Given the description of an element on the screen output the (x, y) to click on. 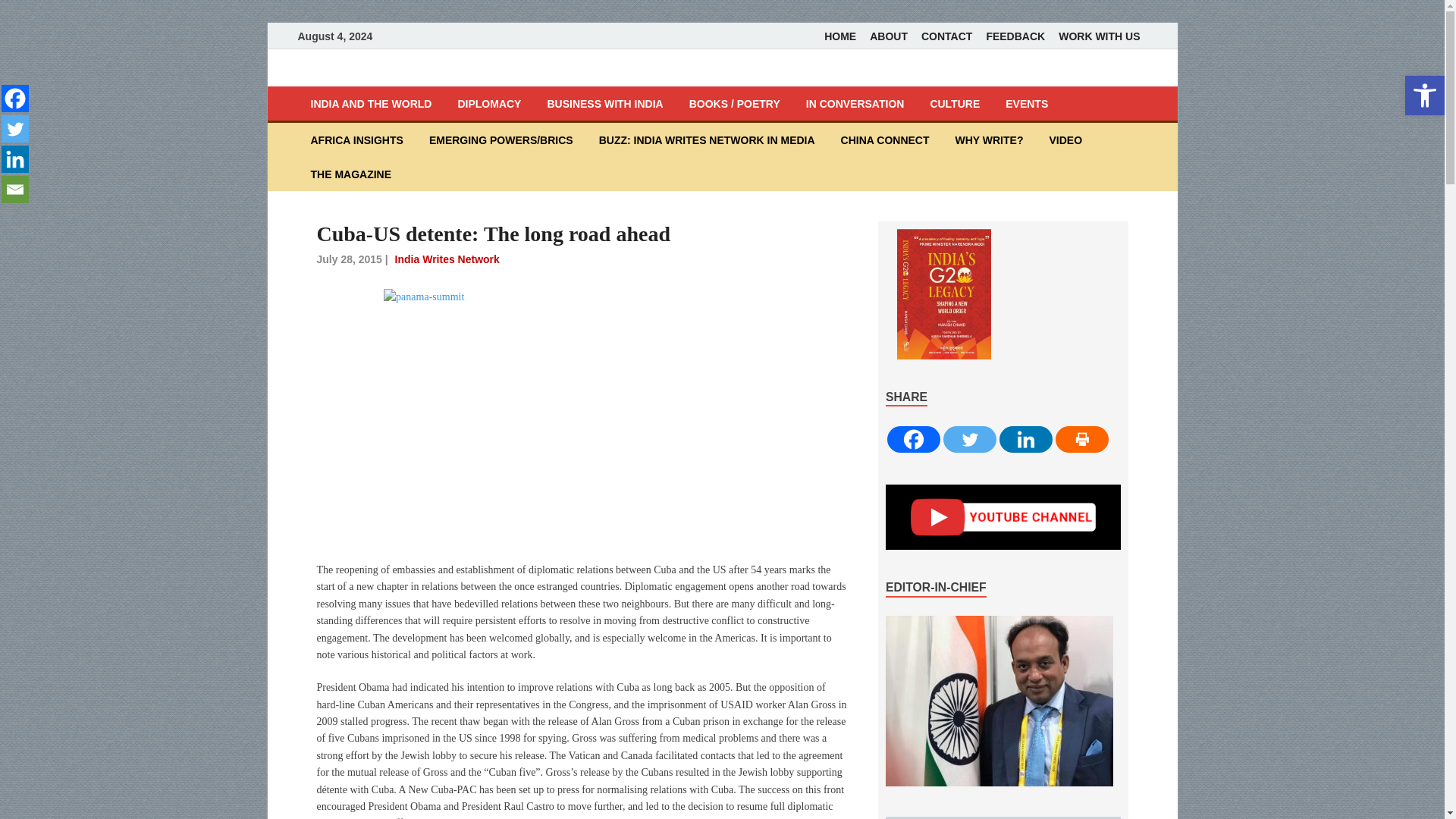
AFRICA INSIGHTS (355, 139)
THE MAGAZINE (350, 173)
FEEDBACK (1014, 35)
WHY WRITE? (988, 139)
India Writes (376, 75)
BUZZ: INDIA WRITES NETWORK IN MEDIA (707, 139)
Email (15, 189)
Linkedin (15, 158)
BUSINESS WITH INDIA (604, 103)
ABOUT (888, 35)
Twitter (15, 128)
Print (1081, 438)
VIDEO (1064, 139)
IN CONVERSATION (855, 103)
CHINA CONNECT (885, 139)
